Given the description of an element on the screen output the (x, y) to click on. 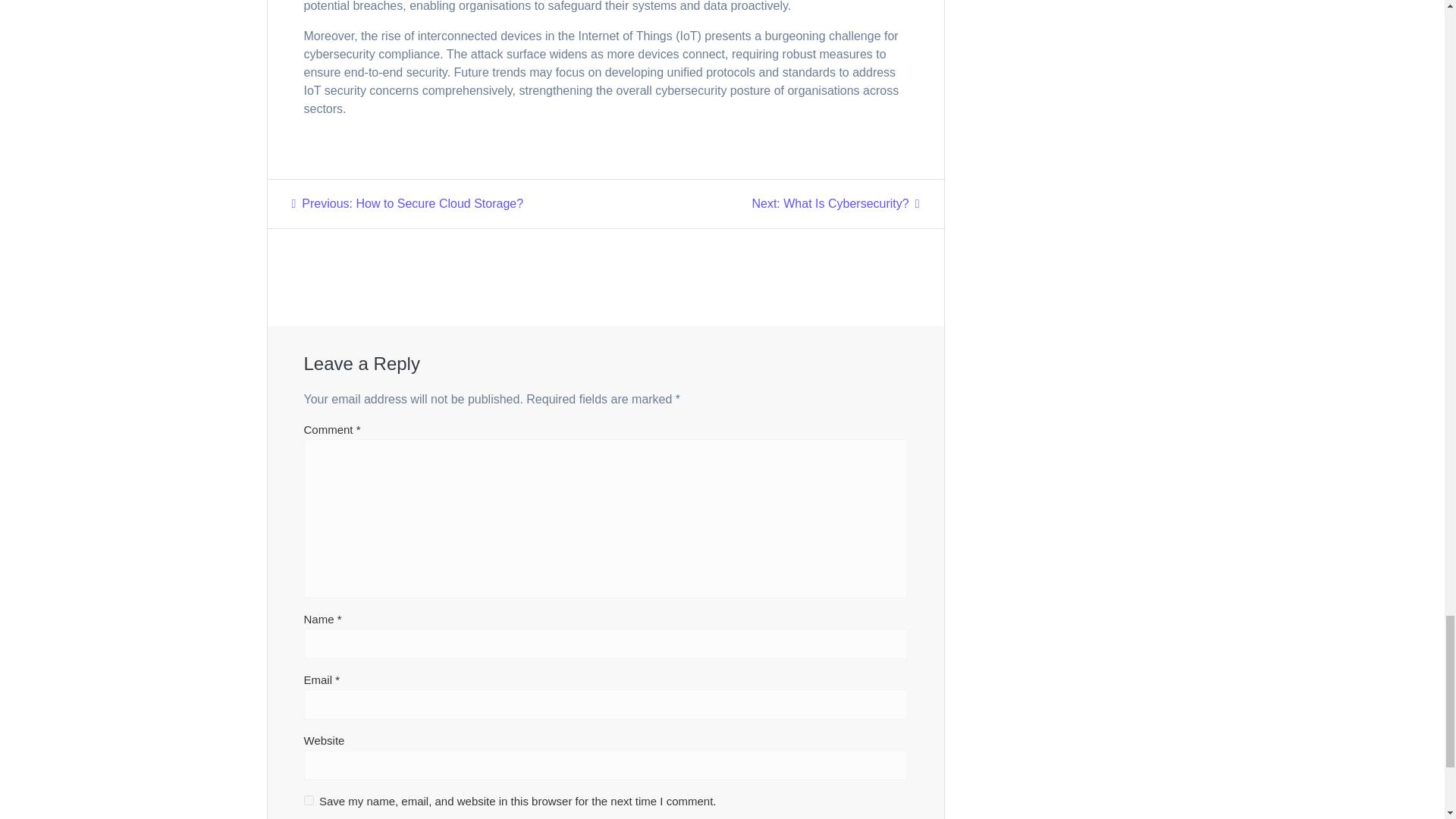
yes (406, 203)
